Given the description of an element on the screen output the (x, y) to click on. 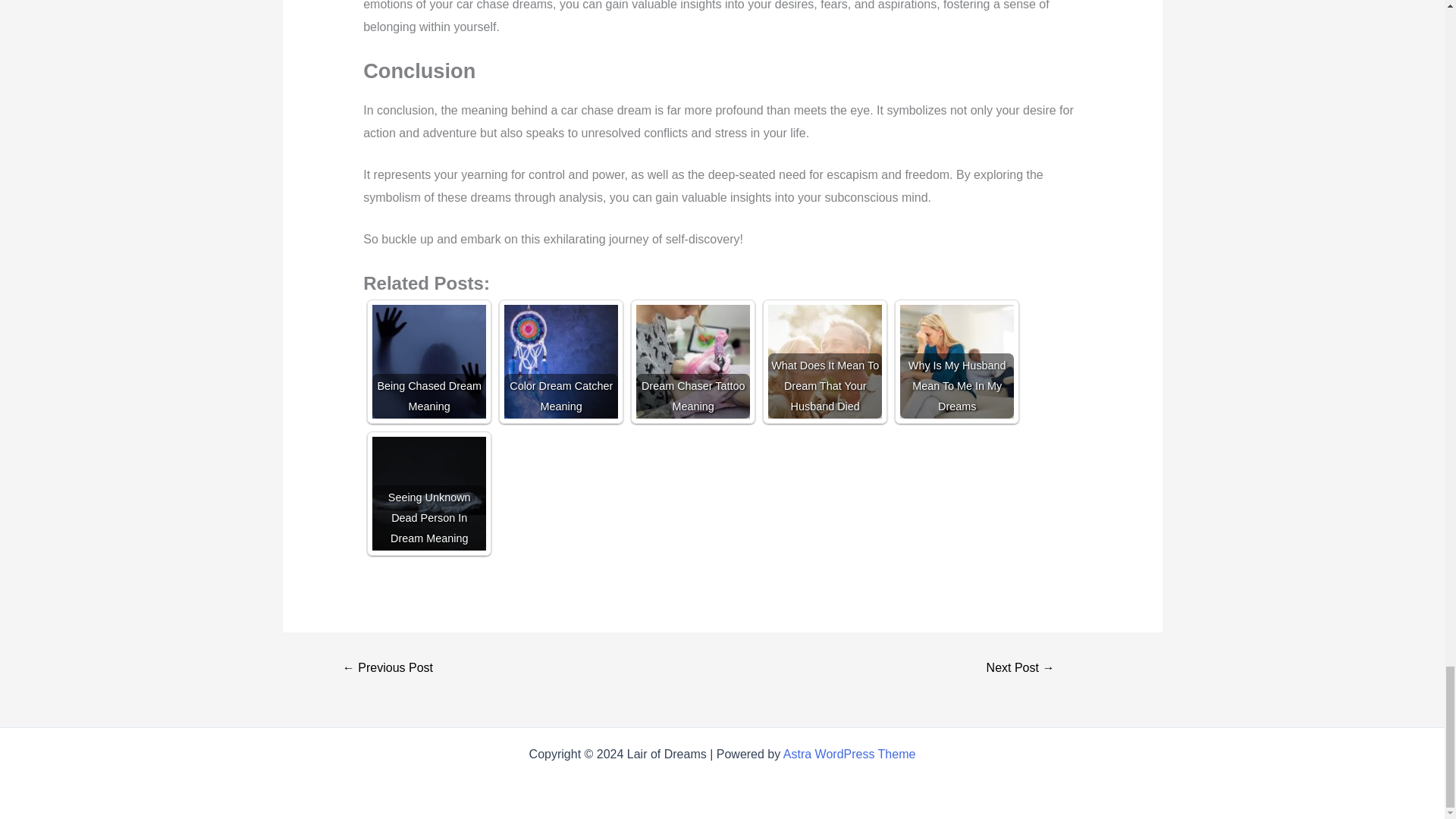
Chased By A Bear Dream Meaning (1019, 667)
Why Is My Husband Mean To Me In My Dreams (956, 361)
Dream Chaser Tattoo Meaning (692, 361)
Color Dream Catcher Meaning (560, 361)
Color Dream Catcher Meaning (560, 361)
Dream Chaser Tattoo Meaning (692, 361)
Color Dream Catcher Meaning (387, 667)
Astra WordPress Theme (849, 753)
Seeing Unknown Dead Person In Dream Meaning (429, 493)
Being Chased Dream Meaning (429, 361)
What Does It Mean To Dream That Your Husband Died (825, 361)
Why Is My Husband Mean To Me In My Dreams (956, 361)
What Does It Mean To Dream That Your Husband Died (825, 361)
Seeing Unknown Dead Person In Dream Meaning (429, 493)
Being Chased Dream Meaning (429, 361)
